Given the description of an element on the screen output the (x, y) to click on. 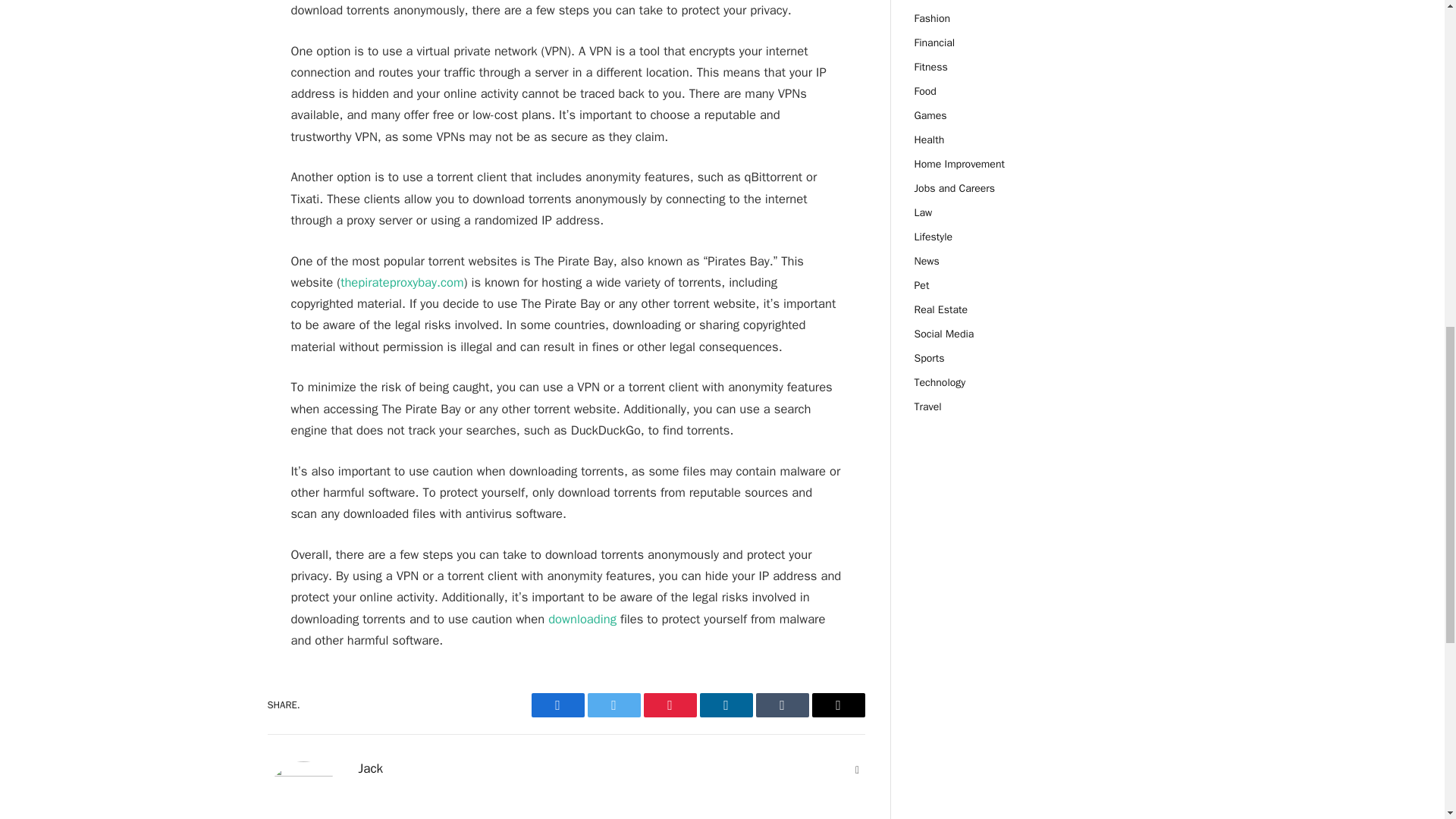
Pinterest (669, 704)
thepirateproxybay.com (401, 282)
Twitter (613, 704)
downloading (581, 618)
Facebook (557, 704)
